Given the description of an element on the screen output the (x, y) to click on. 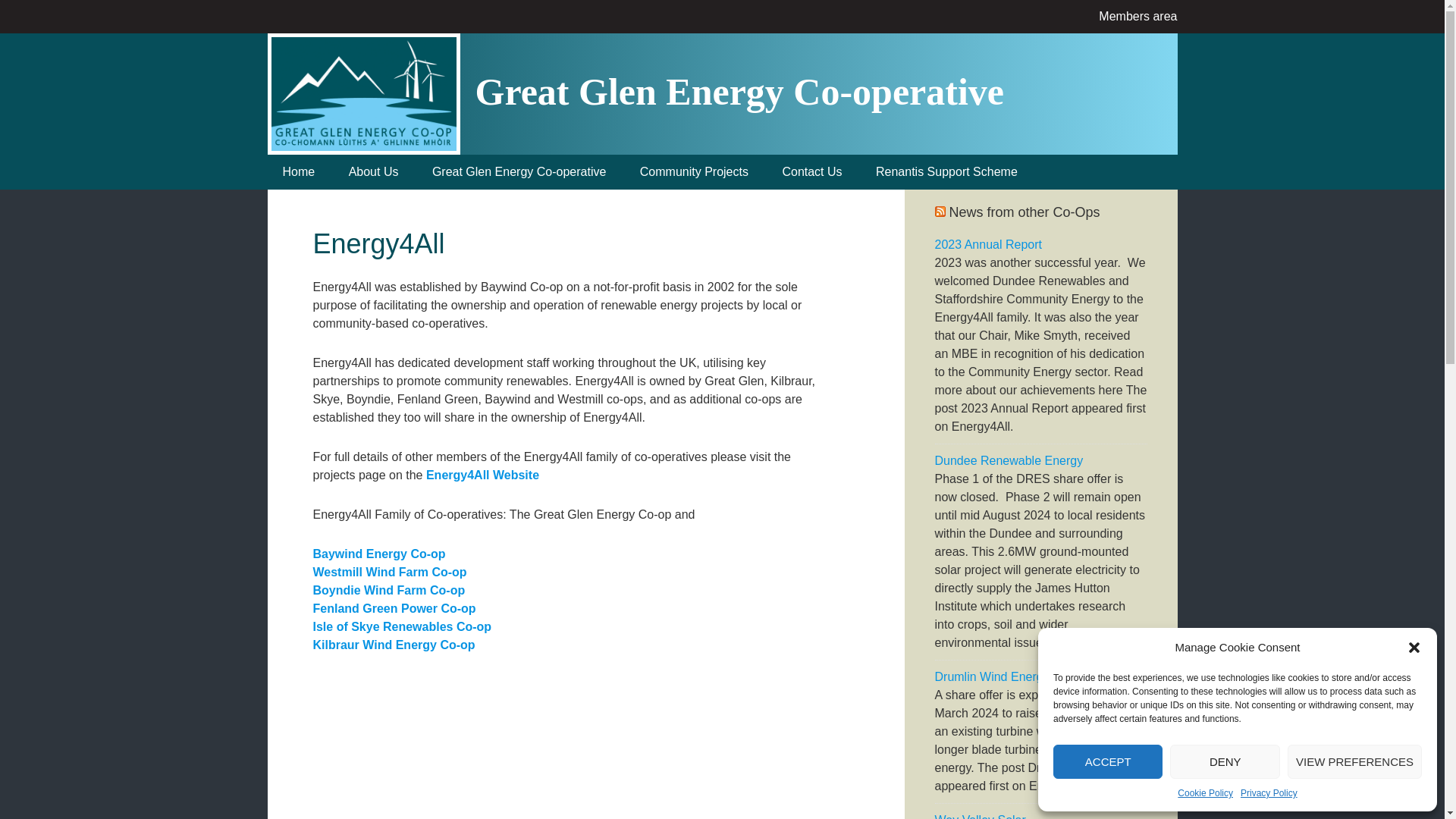
Members area (1137, 15)
Great Glen Energy Co-operative (518, 171)
Community Projects (693, 171)
ACCEPT (1106, 761)
About Us (373, 171)
Great Glen Energy Co-op (363, 47)
Fenland Green Power Co-op (394, 608)
Baywind Energy Co-op (379, 553)
Home (298, 171)
Contact Us (812, 171)
Westmill Wind Farm Co-op (389, 571)
Energy4All Website (482, 474)
Boyndie Wind Farm Co-op (388, 590)
VIEW PREFERENCES (1354, 761)
Great Glen Energy Co-op (363, 93)
